Given the description of an element on the screen output the (x, y) to click on. 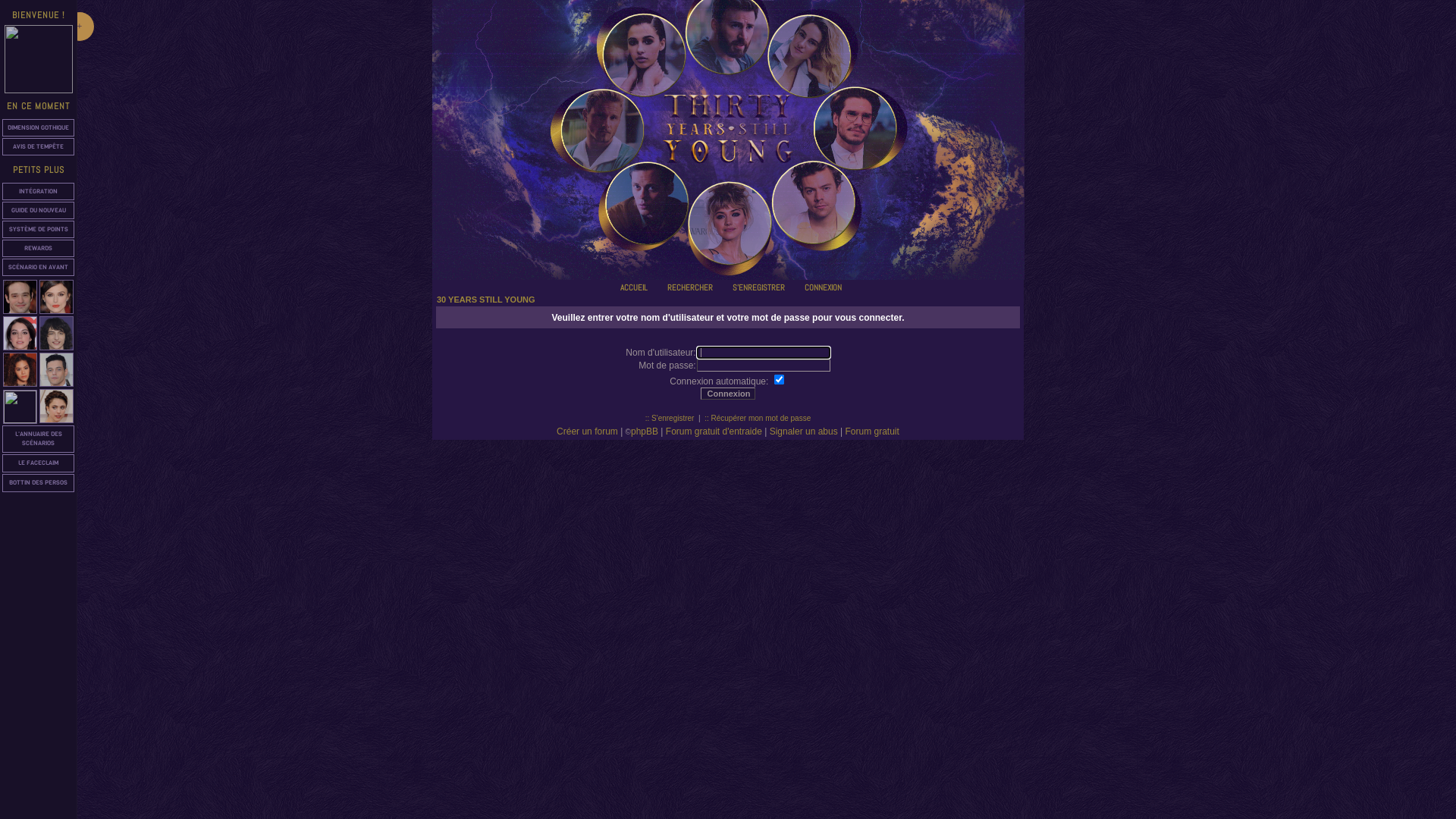
Forum gratuit d'entraide Element type: text (713, 431)
Rechercher Element type: hover (660, 285)
S'ENREGISTRER Element type: text (751, 287)
ACCUEIL Element type: text (627, 287)
S'enregistrer Element type: hover (726, 285)
Forum gratuit Element type: text (872, 431)
Signaler un abus Element type: text (803, 431)
30 YEARS STILL YOUNG Element type: text (485, 299)
Connexion Element type: hover (798, 285)
:: S'enregistrer Element type: text (669, 418)
CONNEXION Element type: text (816, 287)
Accueil Element type: hover (613, 285)
Connexion Element type: text (728, 393)
phpBB Element type: text (644, 431)
RECHERCHER Element type: text (683, 287)
